Given the description of an element on the screen output the (x, y) to click on. 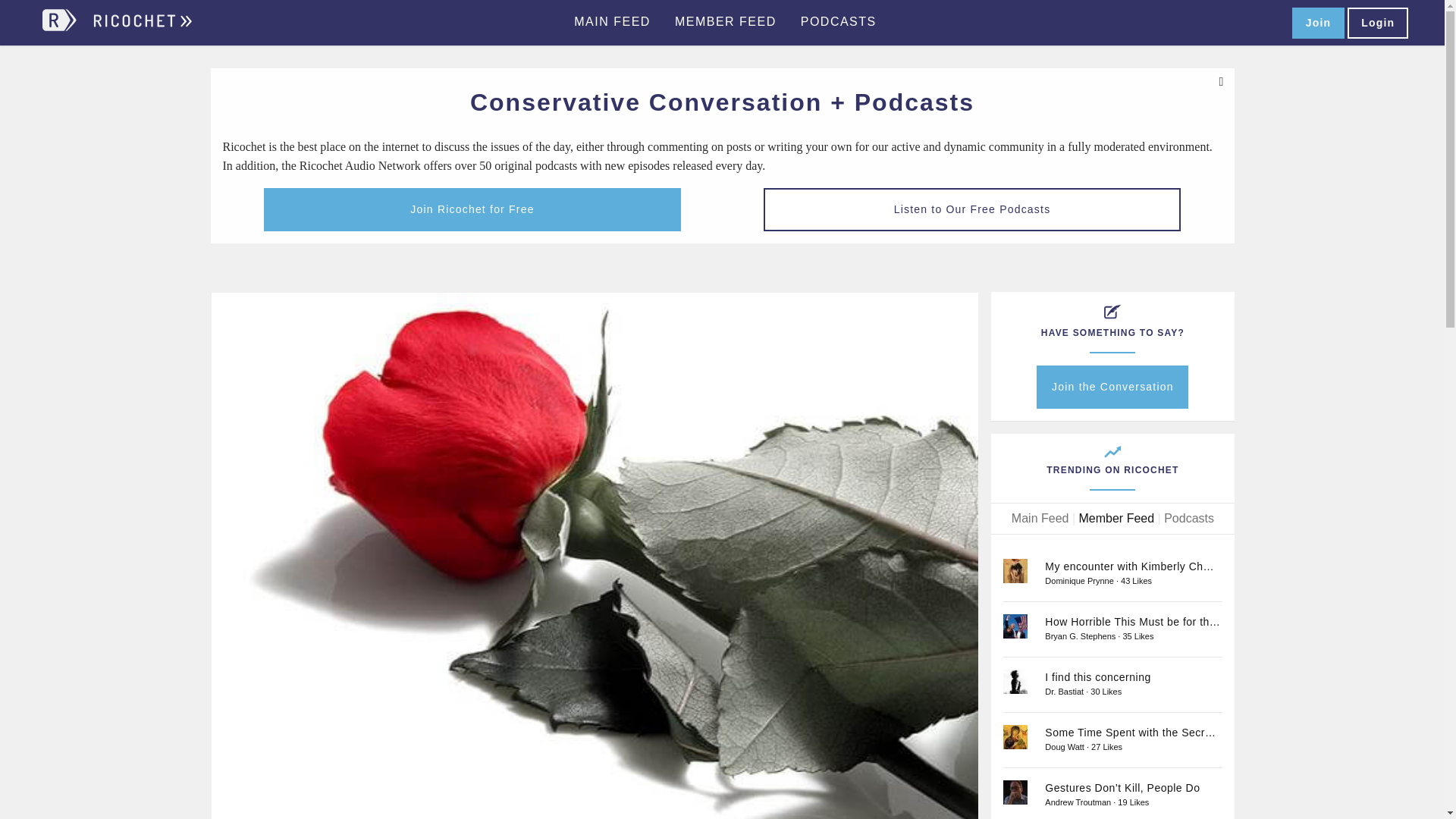
PODCASTS (838, 22)
MAIN FEED (611, 22)
MEMBER FEED (725, 22)
Ricochet Home Page (141, 26)
Search (1266, 22)
